Given the description of an element on the screen output the (x, y) to click on. 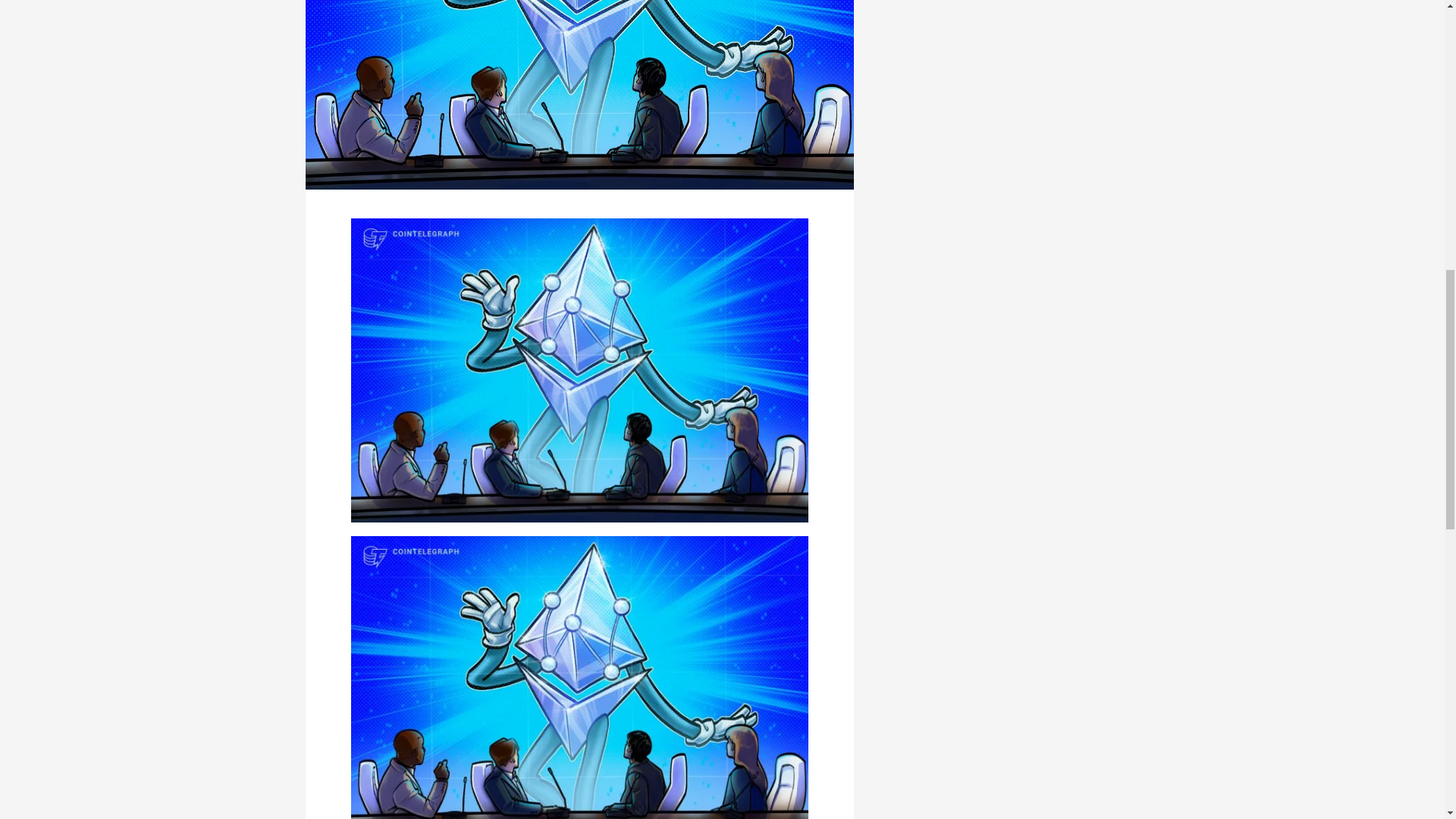
Grayscale officially abandons post-Merge PoW Ethereum tokens (578, 94)
